Given the description of an element on the screen output the (x, y) to click on. 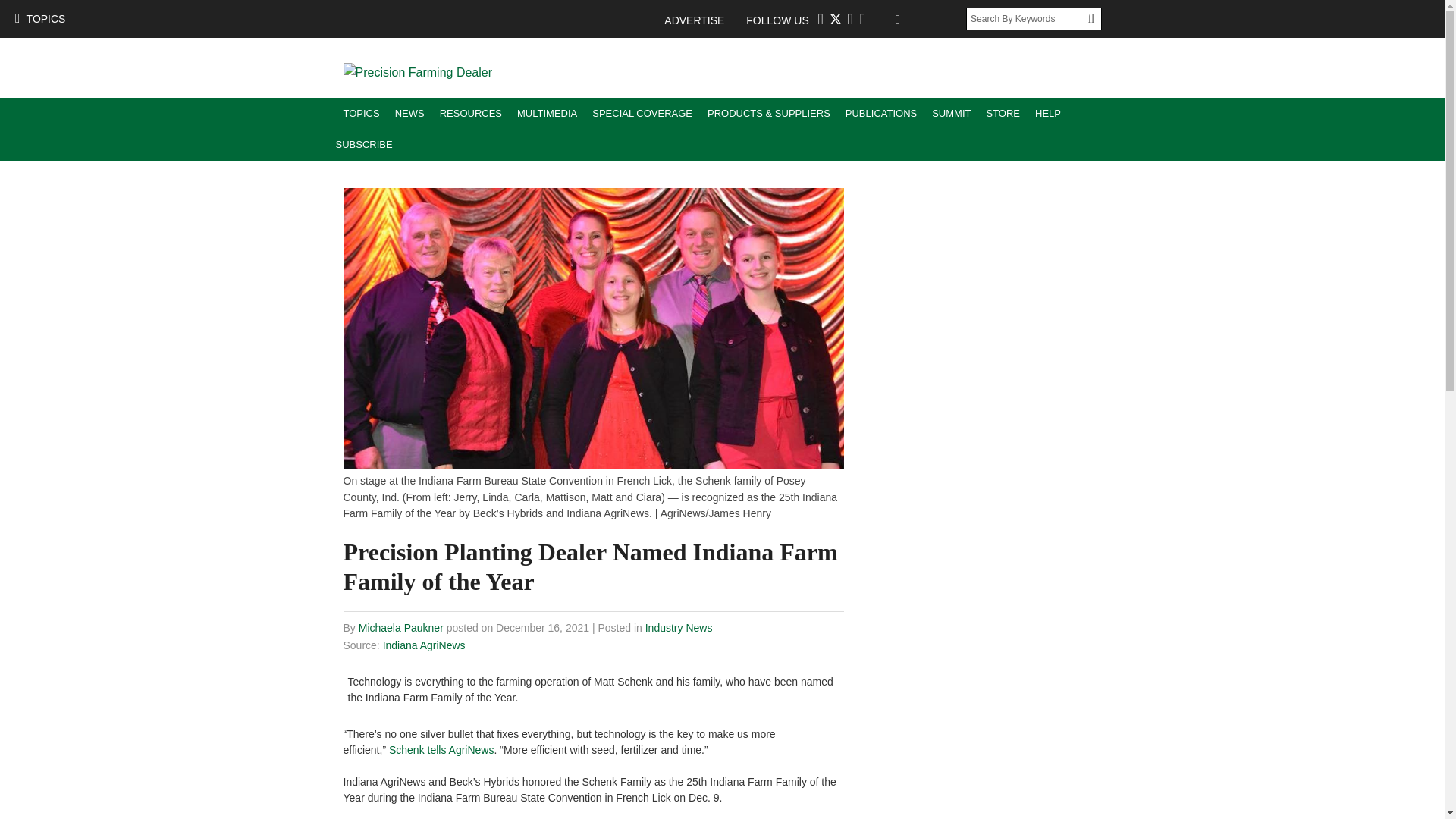
Search By Keywords (1026, 18)
Search By Keywords (1026, 18)
NEWS (409, 112)
TOPICS (39, 18)
ADVERTISE (701, 20)
TOPICS (360, 112)
